Given the description of an element on the screen output the (x, y) to click on. 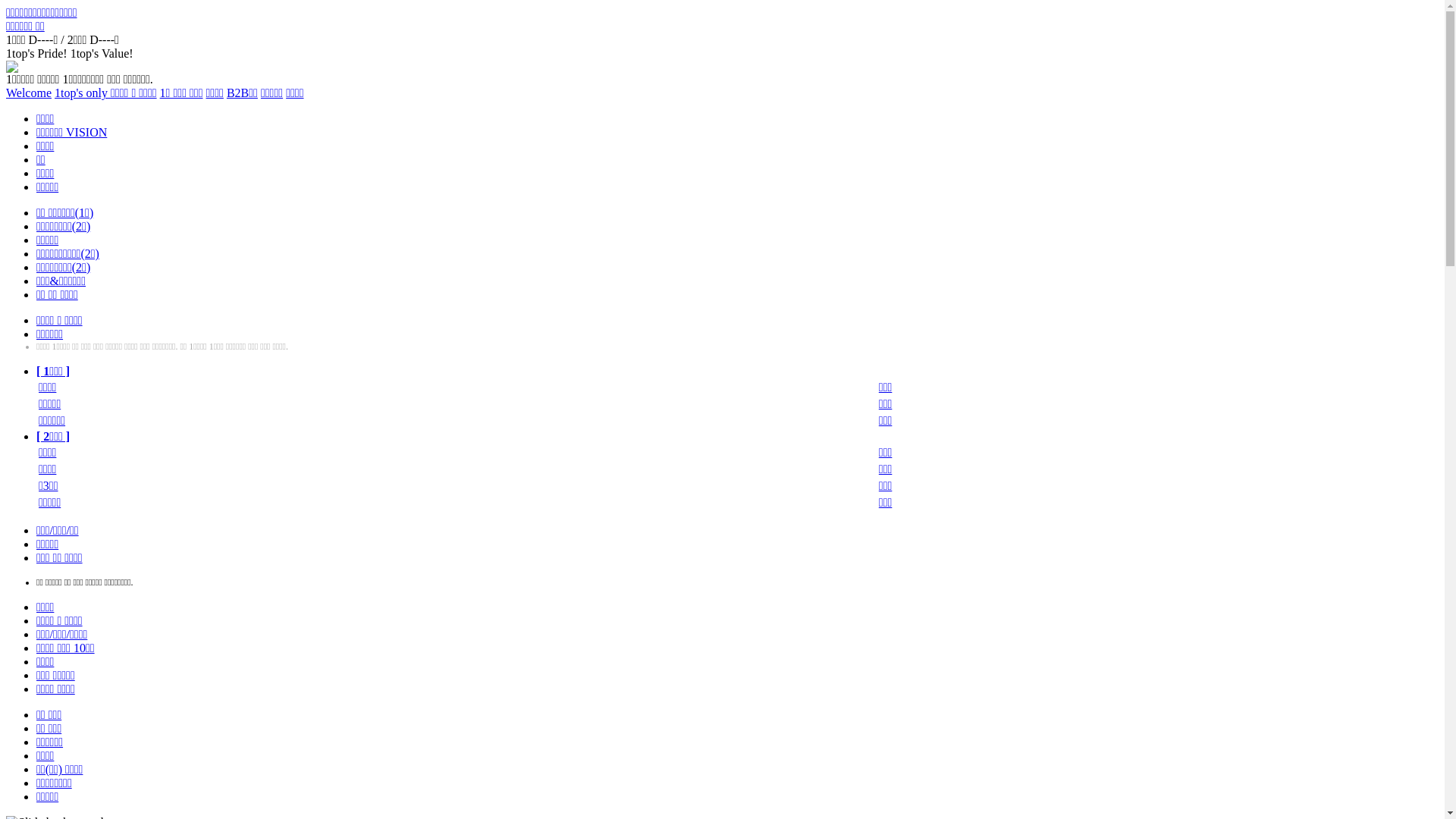
1top's only Element type: text (82, 92)
Welcome Element type: text (28, 92)
